Given the description of an element on the screen output the (x, y) to click on. 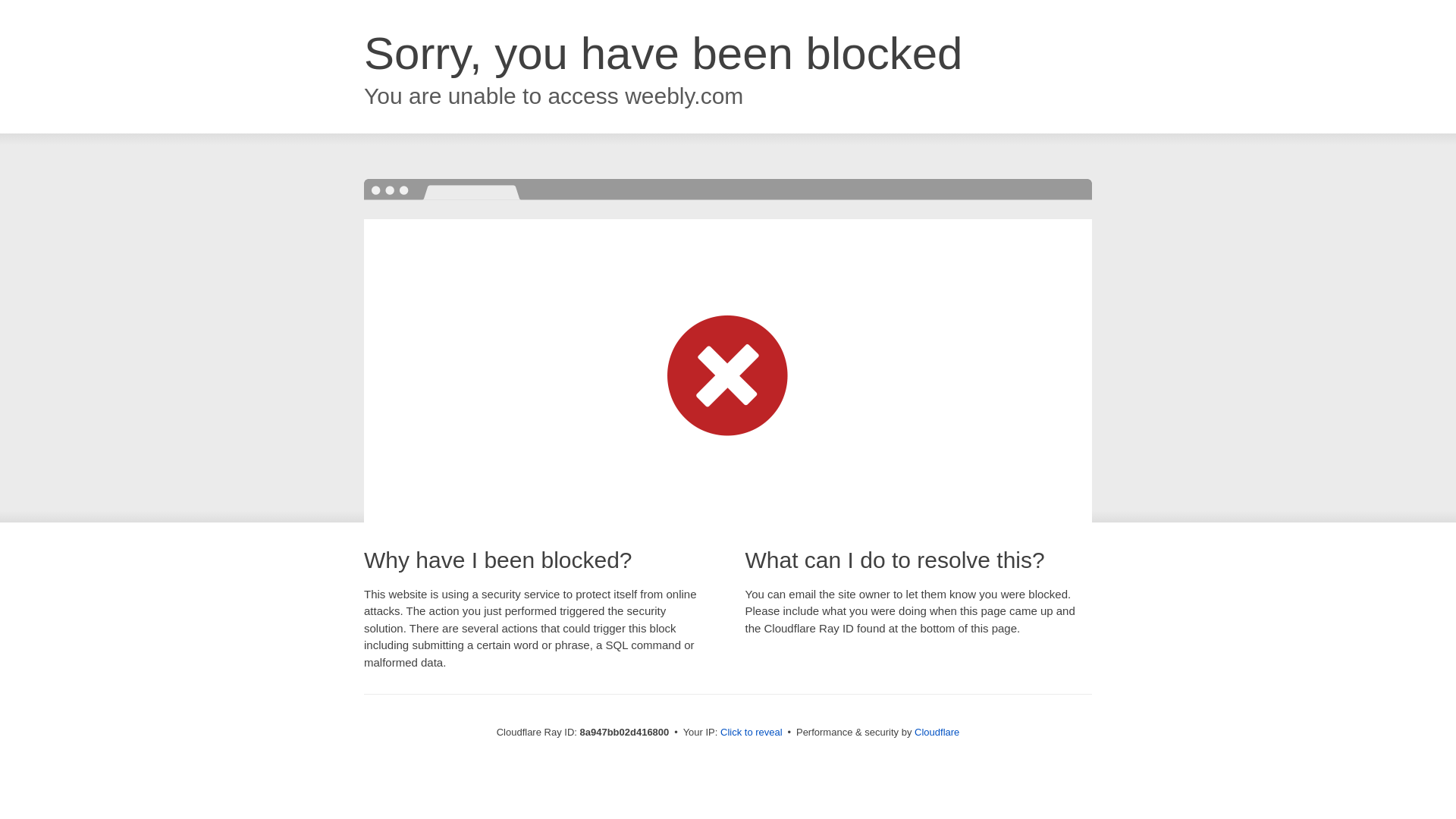
Cloudflare (936, 731)
Click to reveal (751, 732)
